Given the description of an element on the screen output the (x, y) to click on. 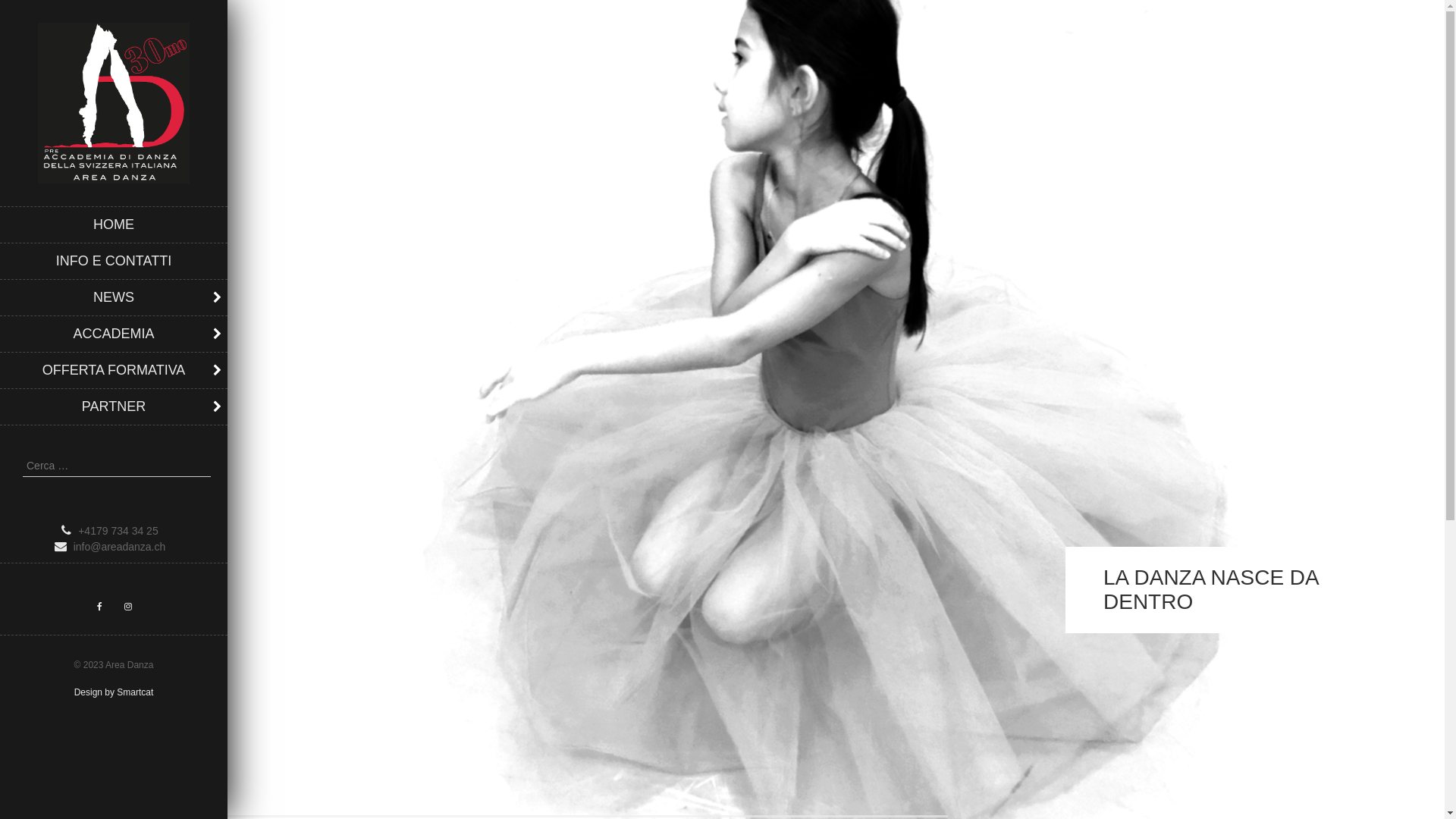
Cerca Element type: text (26, 11)
PARTNER Element type: text (113, 406)
ACCADEMIA Element type: text (113, 333)
INFO E CONTATTI Element type: text (113, 260)
HOME Element type: text (113, 224)
Ricerca per: Element type: hover (116, 465)
+4179 734 34 25 Element type: text (113, 531)
info@areadanza.ch Element type: text (113, 547)
Design by Smartcat Element type: text (113, 692)
OFFERTA FORMATIVA Element type: text (113, 369)
NEWS Element type: text (113, 297)
